Given the description of an element on the screen output the (x, y) to click on. 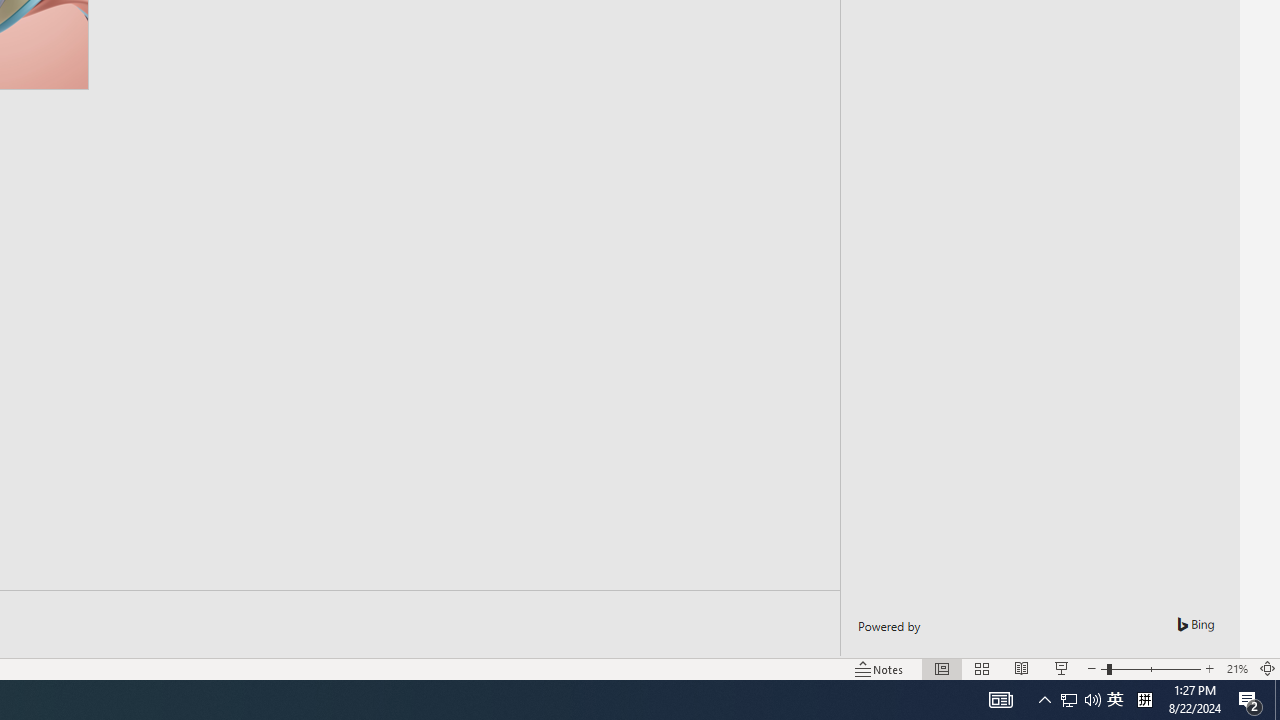
Zoom 21% (1236, 668)
